Given the description of an element on the screen output the (x, y) to click on. 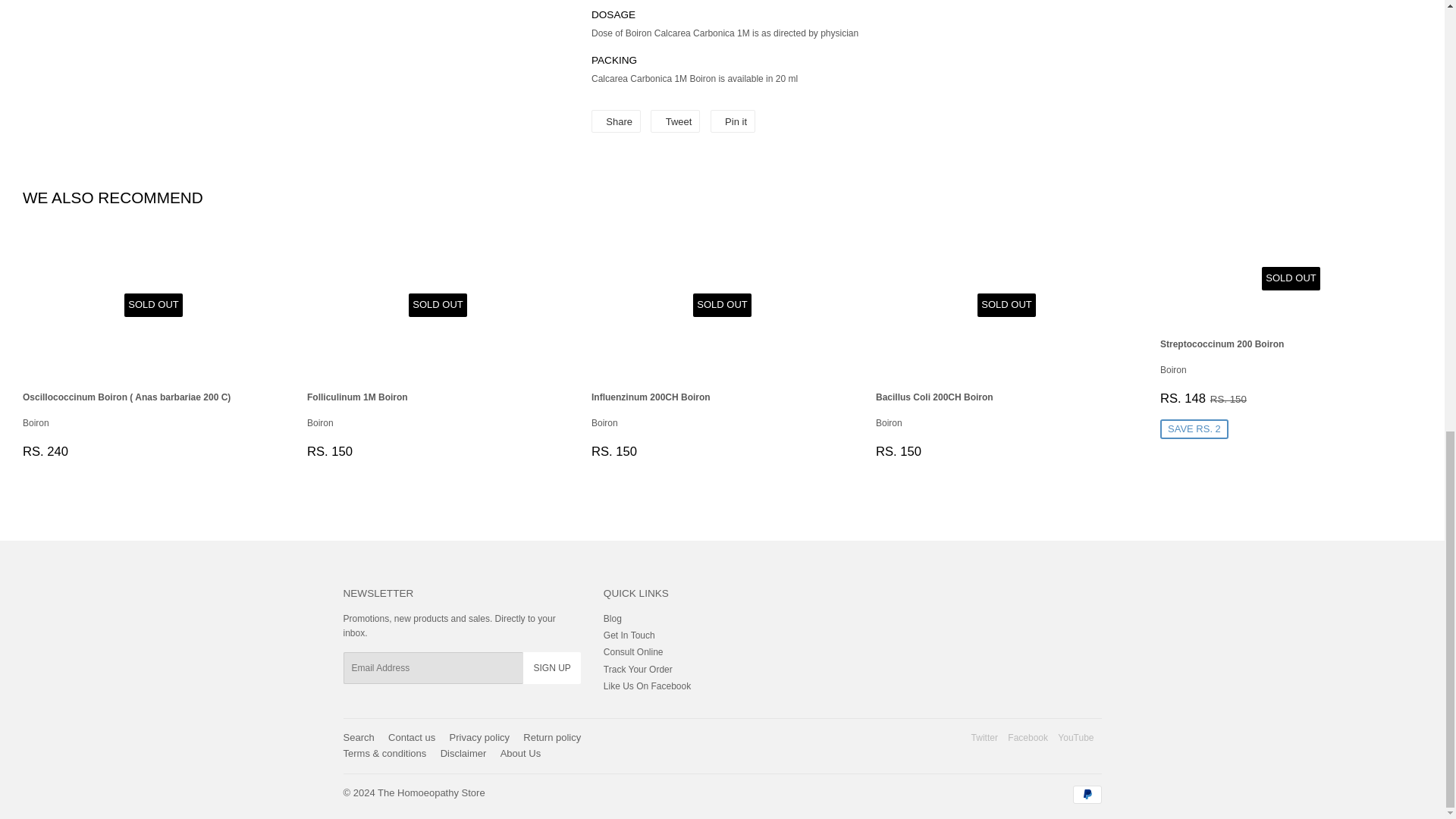
The Homoeopathy Store on YouTube (1075, 737)
The Homoeopathy Store on Facebook (1027, 737)
Share on Facebook (615, 120)
PayPal (1085, 794)
The Homoeopathy Store on Twitter (984, 737)
Pin on Pinterest (732, 120)
Tweet on Twitter (675, 120)
